Given the description of an element on the screen output the (x, y) to click on. 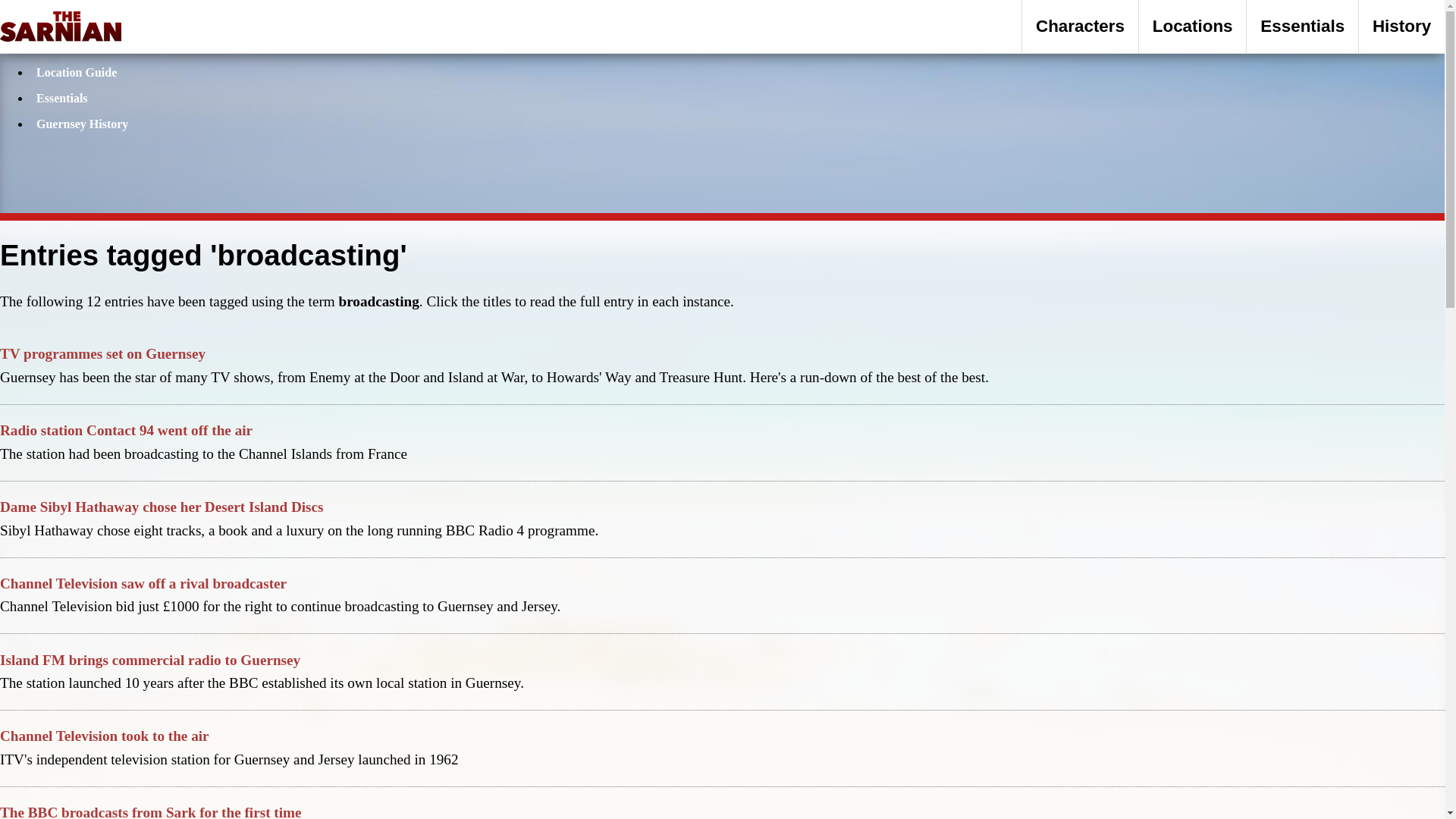
Essentials (61, 97)
Character Guide (79, 46)
TV programmes set on Guernsey (102, 353)
Dame Sibyl Hathaway chose her Desert Island Discs (161, 506)
The Sarnian essentials (1301, 26)
Channel Television saw off a rival broadcaster (143, 583)
Essentials (1301, 26)
Characters (1079, 26)
The BBC broadcasts from Sark for the first time (150, 811)
Characters in The Sarnian (1079, 26)
